Given the description of an element on the screen output the (x, y) to click on. 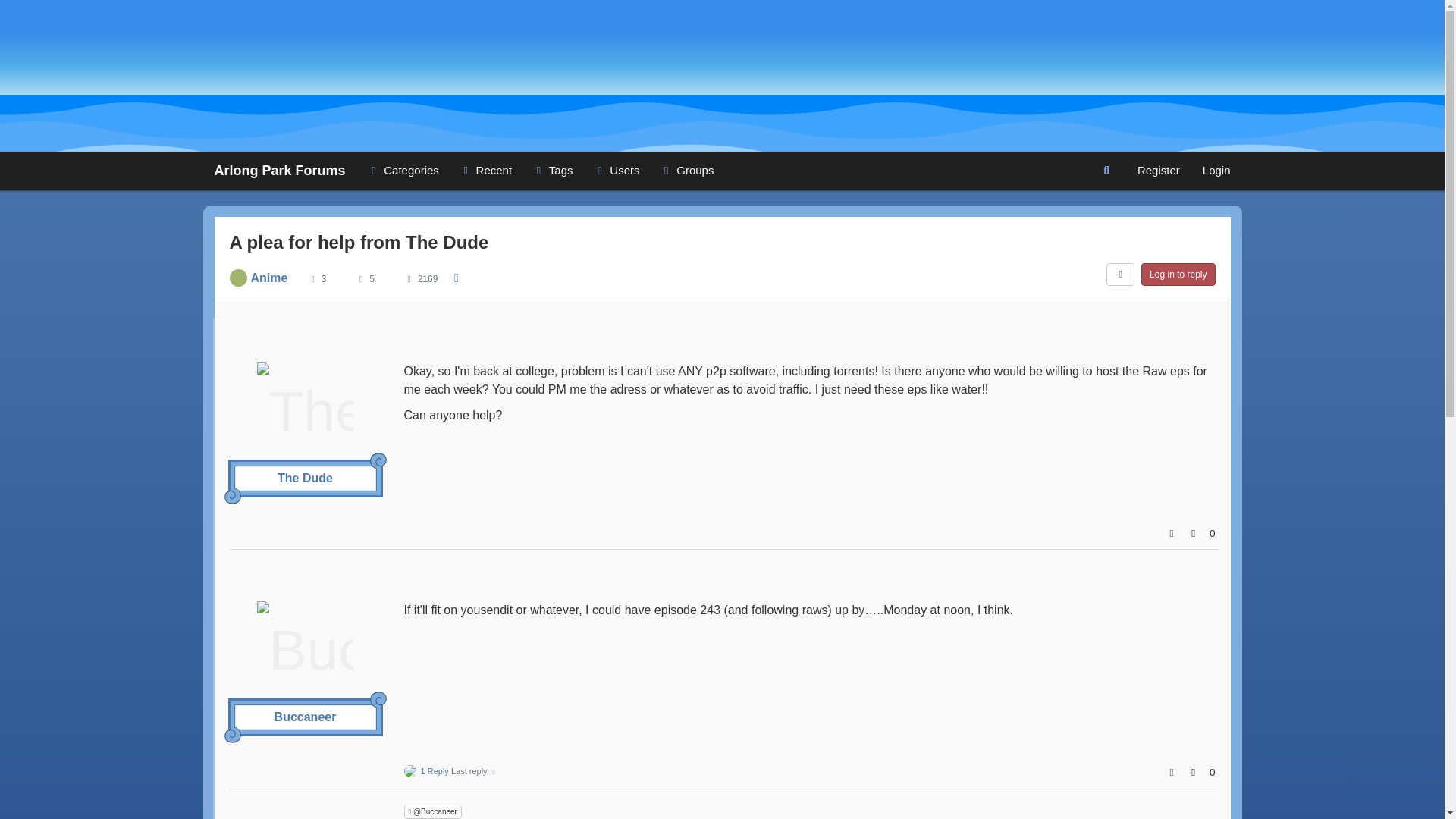
Anime (268, 277)
Login (1216, 170)
The Dude (305, 478)
spiral (378, 699)
Categories (402, 170)
Posters (312, 278)
Tags (551, 170)
Categories (402, 170)
Views (408, 278)
Groups (686, 170)
